Given the description of an element on the screen output the (x, y) to click on. 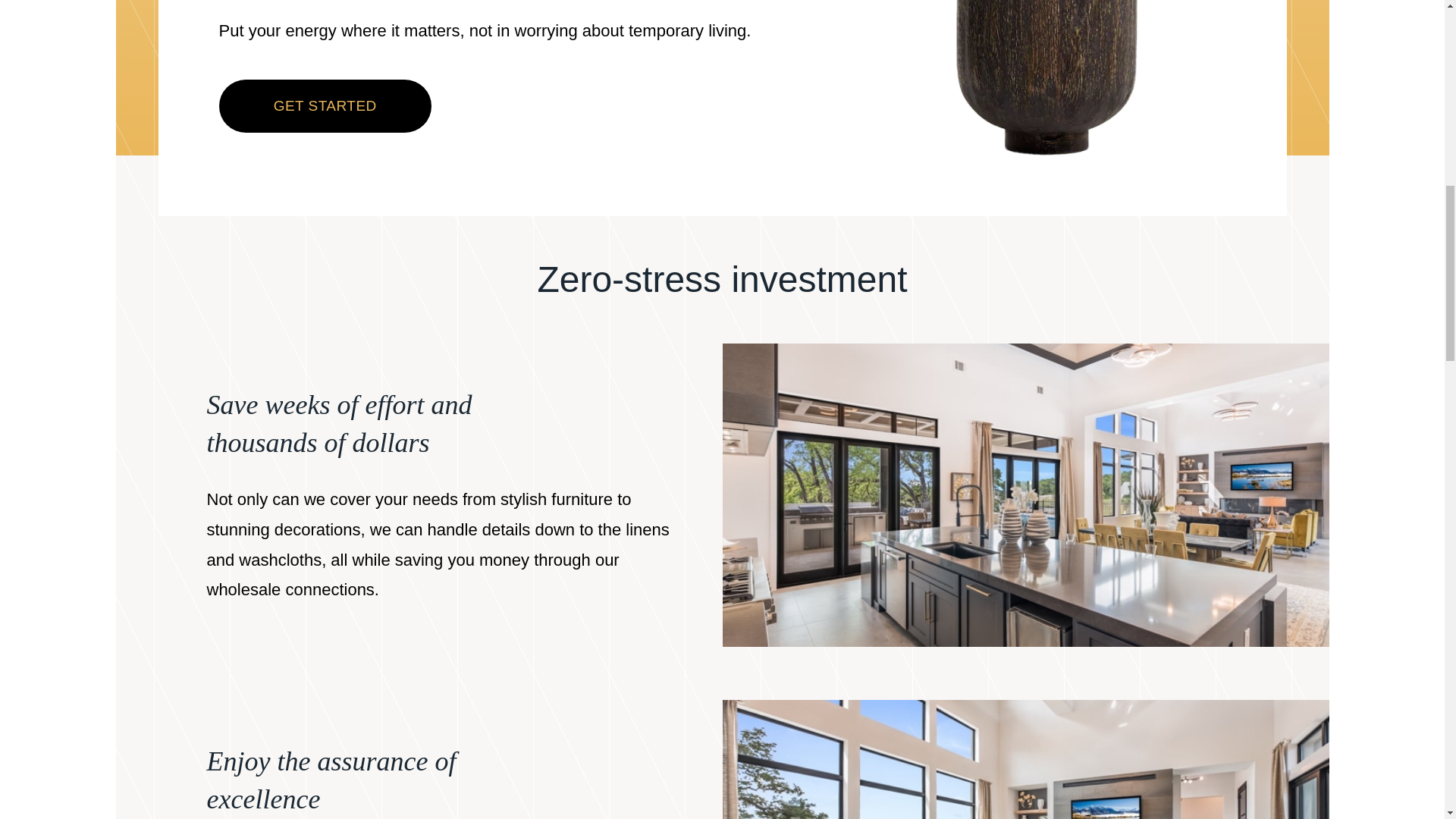
GET STARTED (324, 105)
